Given the description of an element on the screen output the (x, y) to click on. 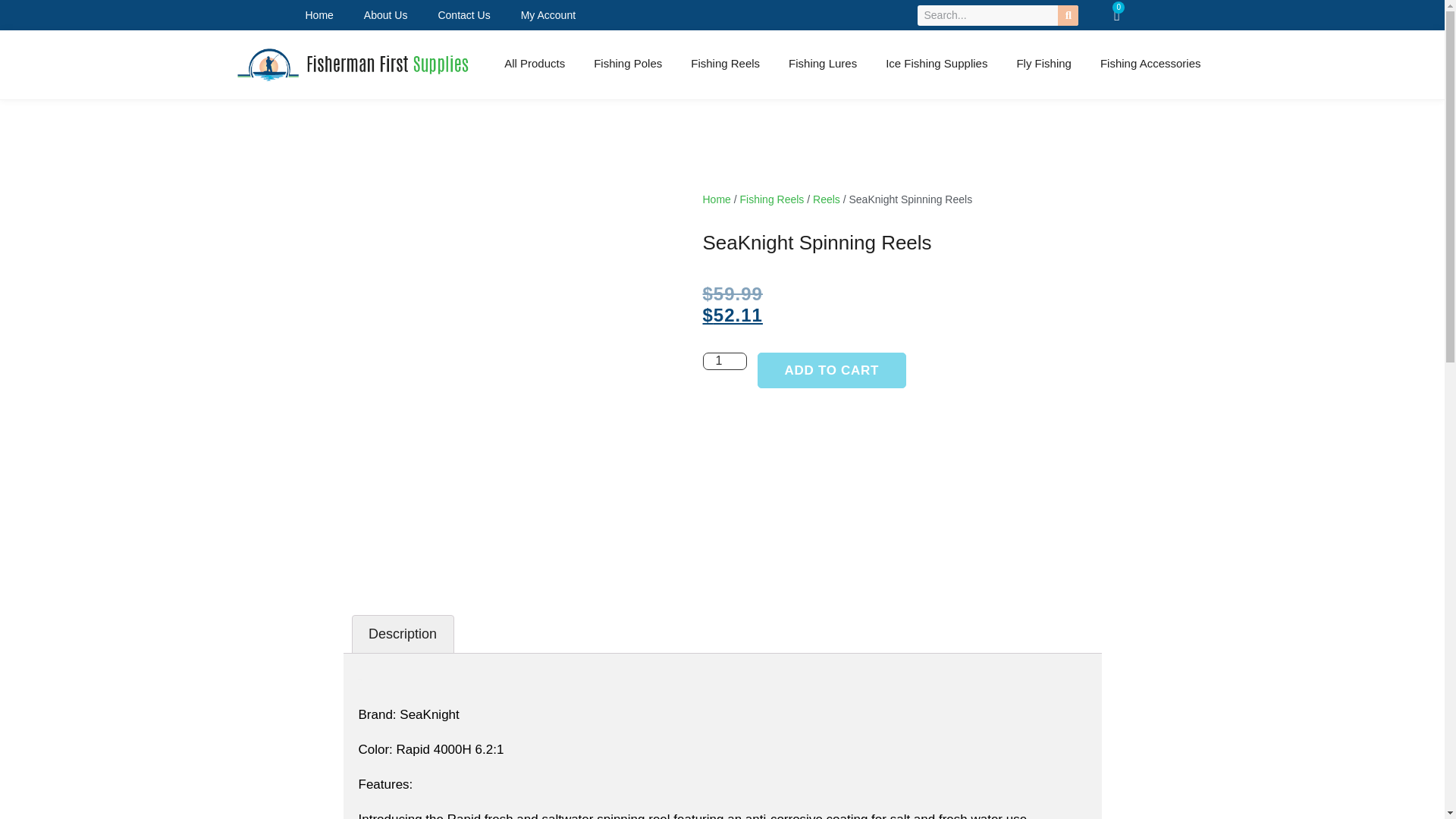
Fishing Poles (628, 63)
Fly Fishing (1043, 63)
About Us (386, 14)
Qty (723, 360)
All Products (534, 63)
Ice Fishing Supplies (935, 63)
Home (318, 14)
Contact Us (463, 14)
Fishing Accessories (1150, 63)
1 (723, 360)
